Given the description of an element on the screen output the (x, y) to click on. 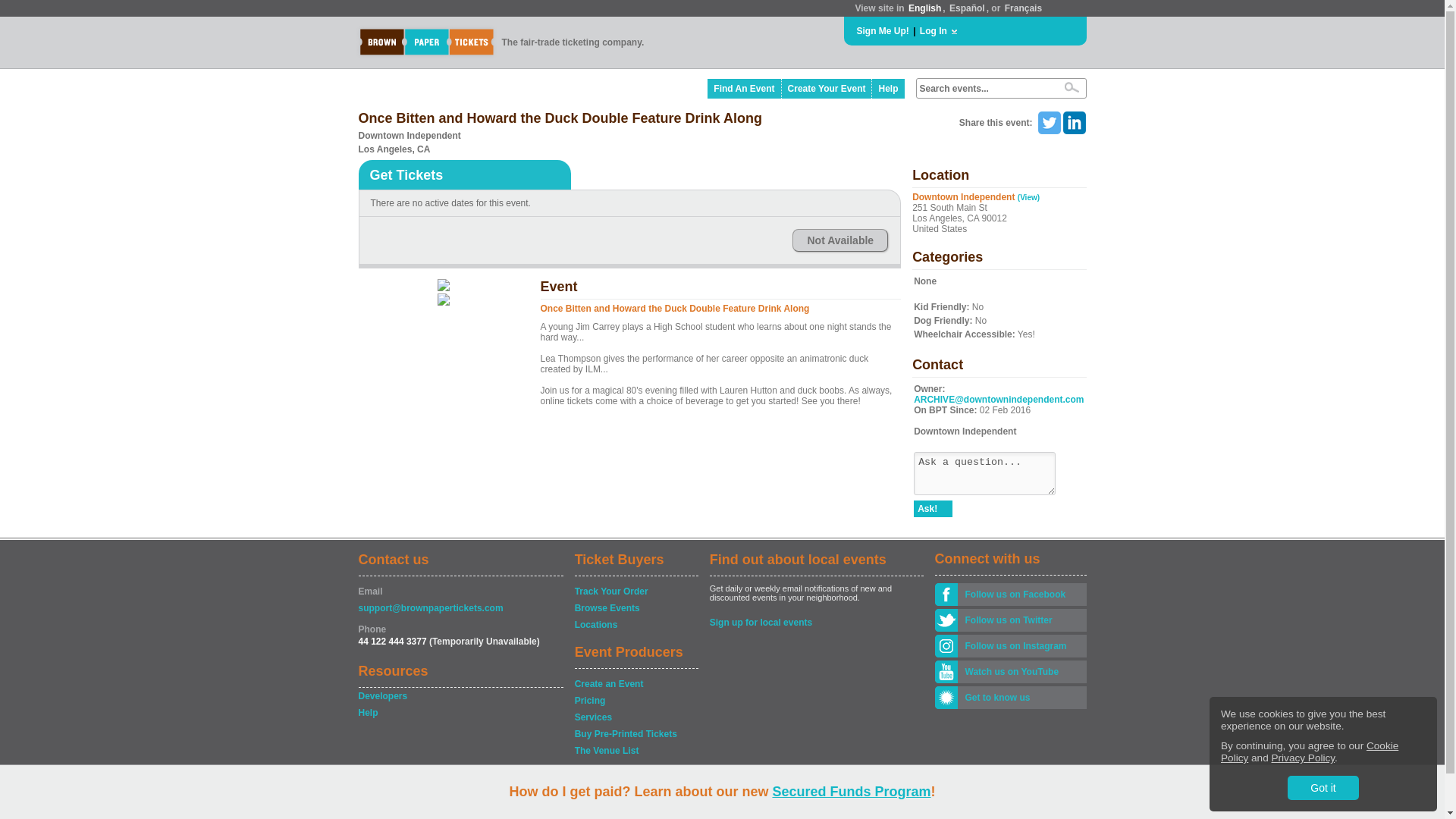
Pricing (636, 700)
Privacy Policy (1303, 757)
English (924, 8)
Sign Me Up! (883, 30)
Ask! (933, 508)
Buy Pre-Printed Tickets (636, 734)
Secured Funds Program (850, 791)
Track Your Order (636, 590)
Sign up for local events (816, 622)
Search events... (984, 88)
